Given the description of an element on the screen output the (x, y) to click on. 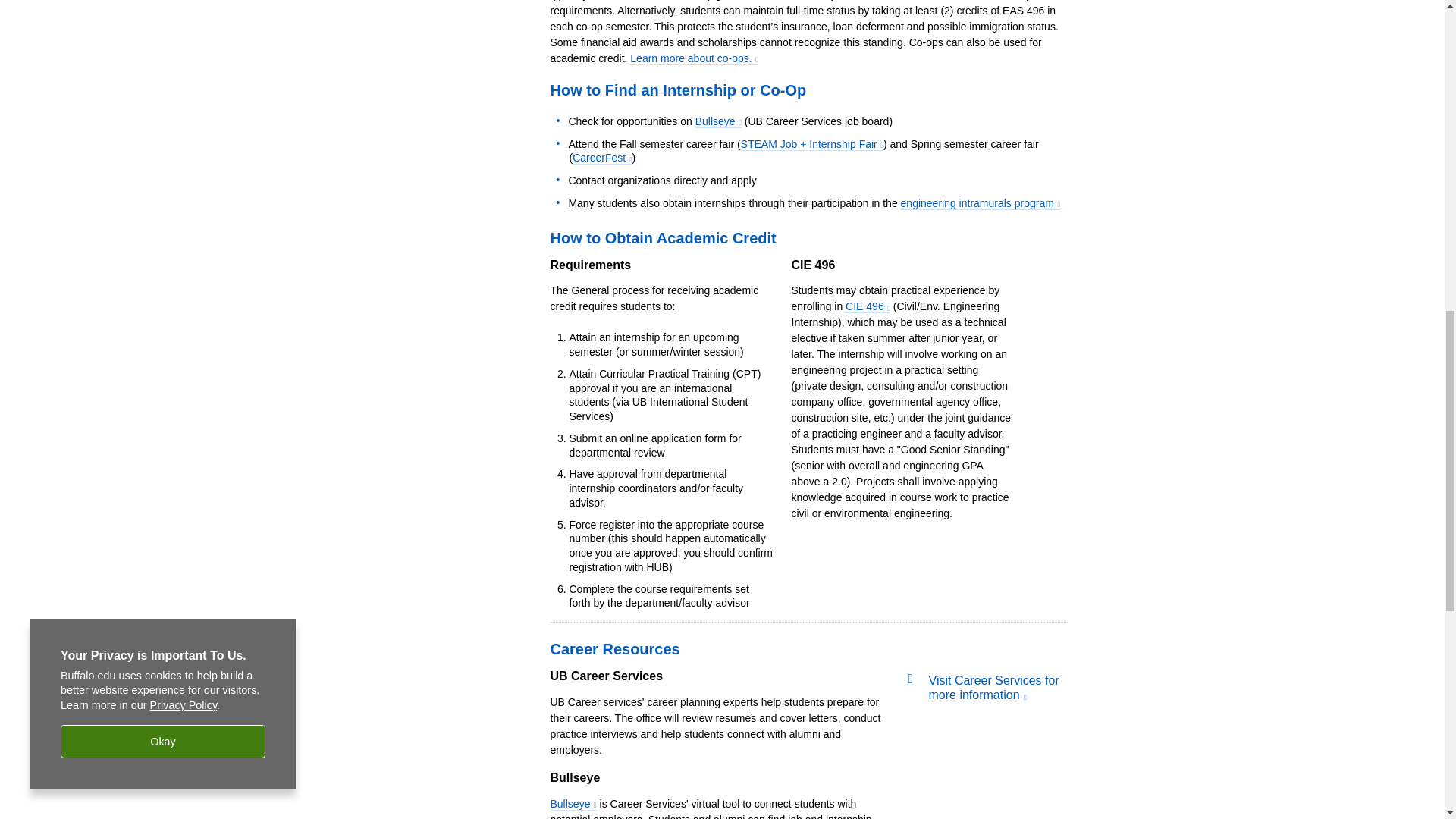
This link opens a page in a new window or tab. (694, 58)
This link opens a page in a new window or tab. (573, 803)
This link opens a page in a new window or tab. (993, 687)
This link opens a page in a new window or tab. (718, 121)
This link opens a page in a new window or tab. (812, 144)
This link opens a page in a new window or tab. (867, 306)
This link opens a page in a new window or tab. (981, 203)
This link opens a page in a new window or tab. (601, 157)
